Given the description of an element on the screen output the (x, y) to click on. 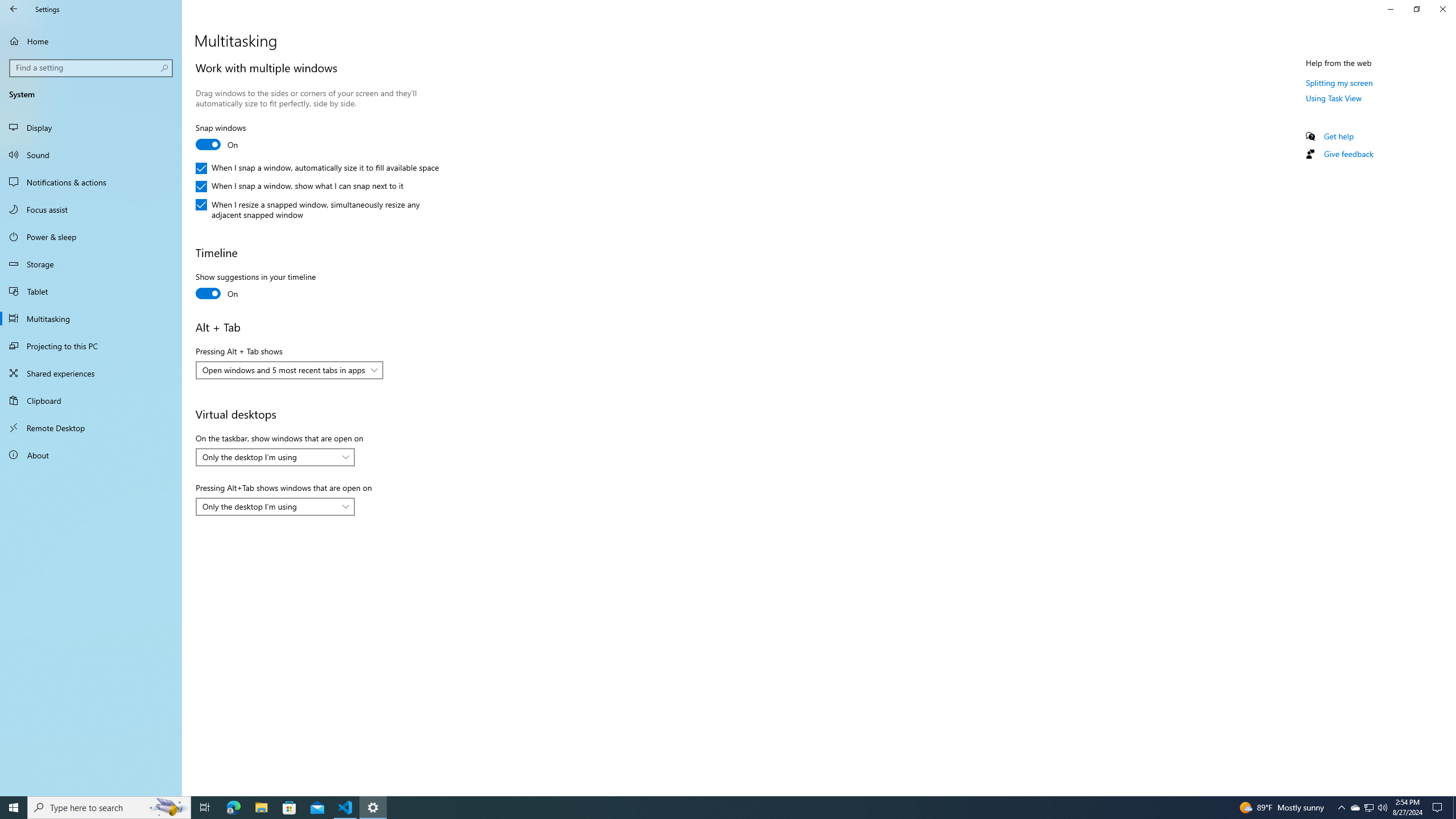
Storage (91, 263)
Open windows and 5 most recent tabs in apps (283, 369)
Splitting my screen (1339, 82)
